Given the description of an element on the screen output the (x, y) to click on. 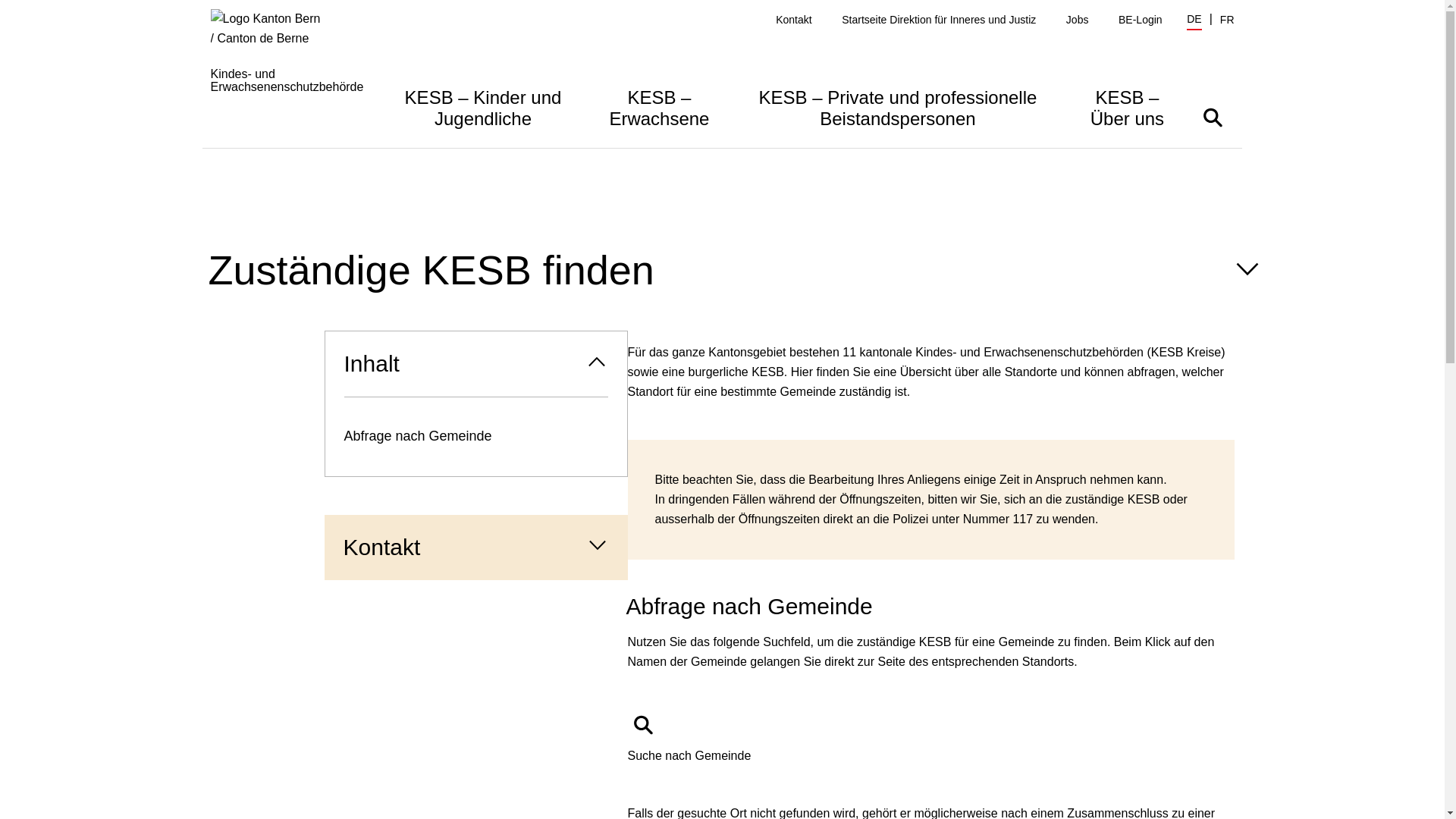
FR Element type: text (1227, 19)
Kontakt Element type: text (793, 19)
Suche ein- oder ausblenden Element type: text (1211, 116)
Abfrage nach Gemeinde Element type: text (475, 436)
Kontakt Element type: text (475, 547)
Jobs Element type: text (1077, 19)
DE Element type: text (1193, 21)
BE-Login Element type: text (1140, 19)
Inhalt Element type: text (475, 363)
